Given the description of an element on the screen output the (x, y) to click on. 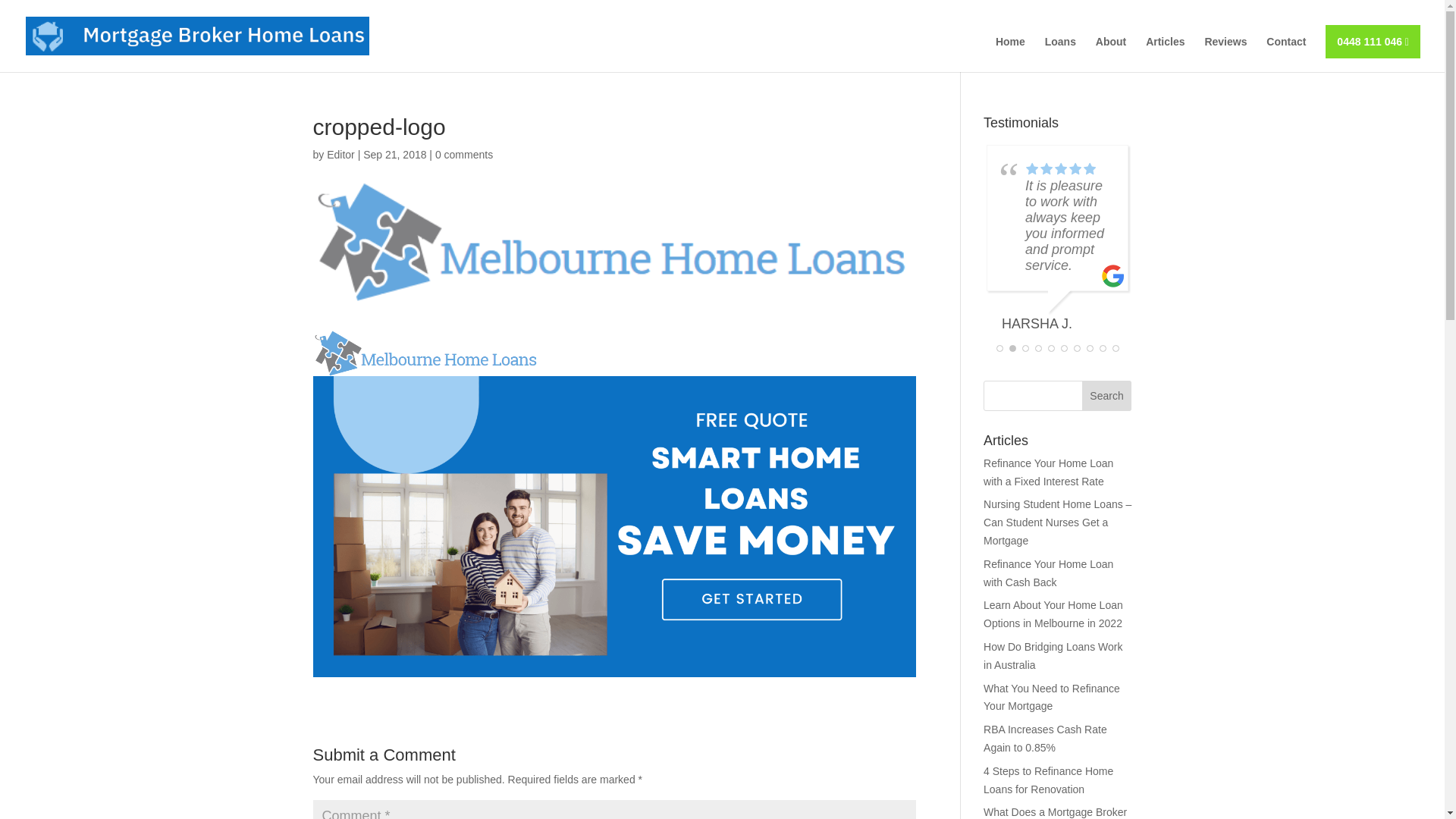
Refinance Your Home Loan with Cash Back Element type: text (1048, 573)
About Element type: text (1110, 54)
Reviews Element type: text (1225, 54)
Home Element type: text (1010, 54)
Articles Element type: text (1164, 54)
Search Element type: text (1107, 395)
0 comments Element type: text (463, 154)
Contact Element type: text (1285, 54)
Loans Element type: text (1060, 54)
4 Steps to Refinance Home Loans for Renovation Element type: text (1048, 780)
Learn About Your Home Loan Options in Melbourne in 2022 Element type: text (1053, 614)
What You Need to Refinance Your Mortgage Element type: text (1051, 697)
Refinance Your Home Loan with a Fixed Interest Rate Element type: text (1048, 472)
RBA Increases Cash Rate Again to 0.85% Element type: text (1045, 738)
Editor Element type: text (340, 154)
How Do Bridging Loans Work in Australia Element type: text (1052, 655)
